Given the description of an element on the screen output the (x, y) to click on. 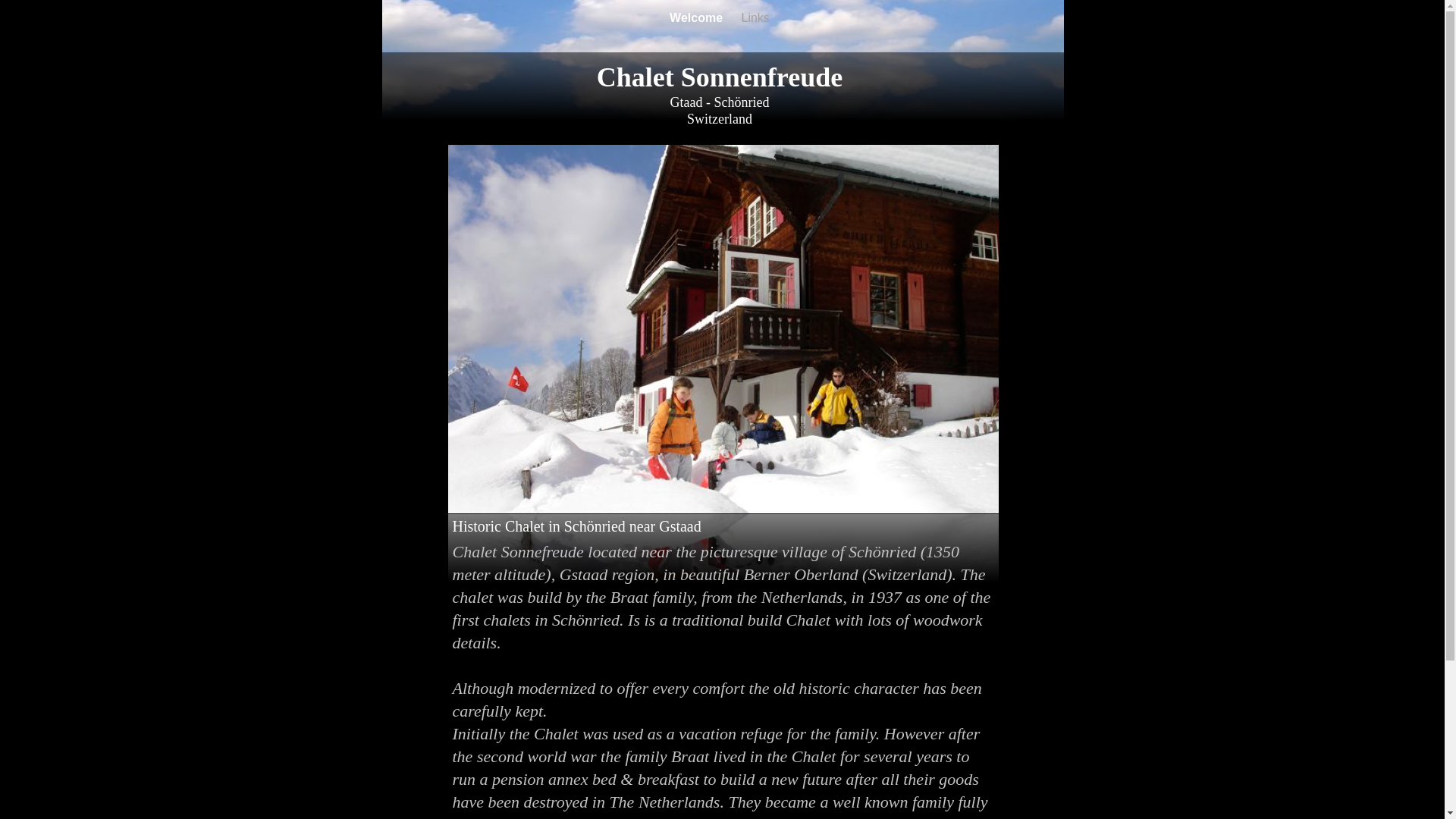
Links Element type: text (755, 17)
Welcome Element type: text (697, 17)
